Given the description of an element on the screen output the (x, y) to click on. 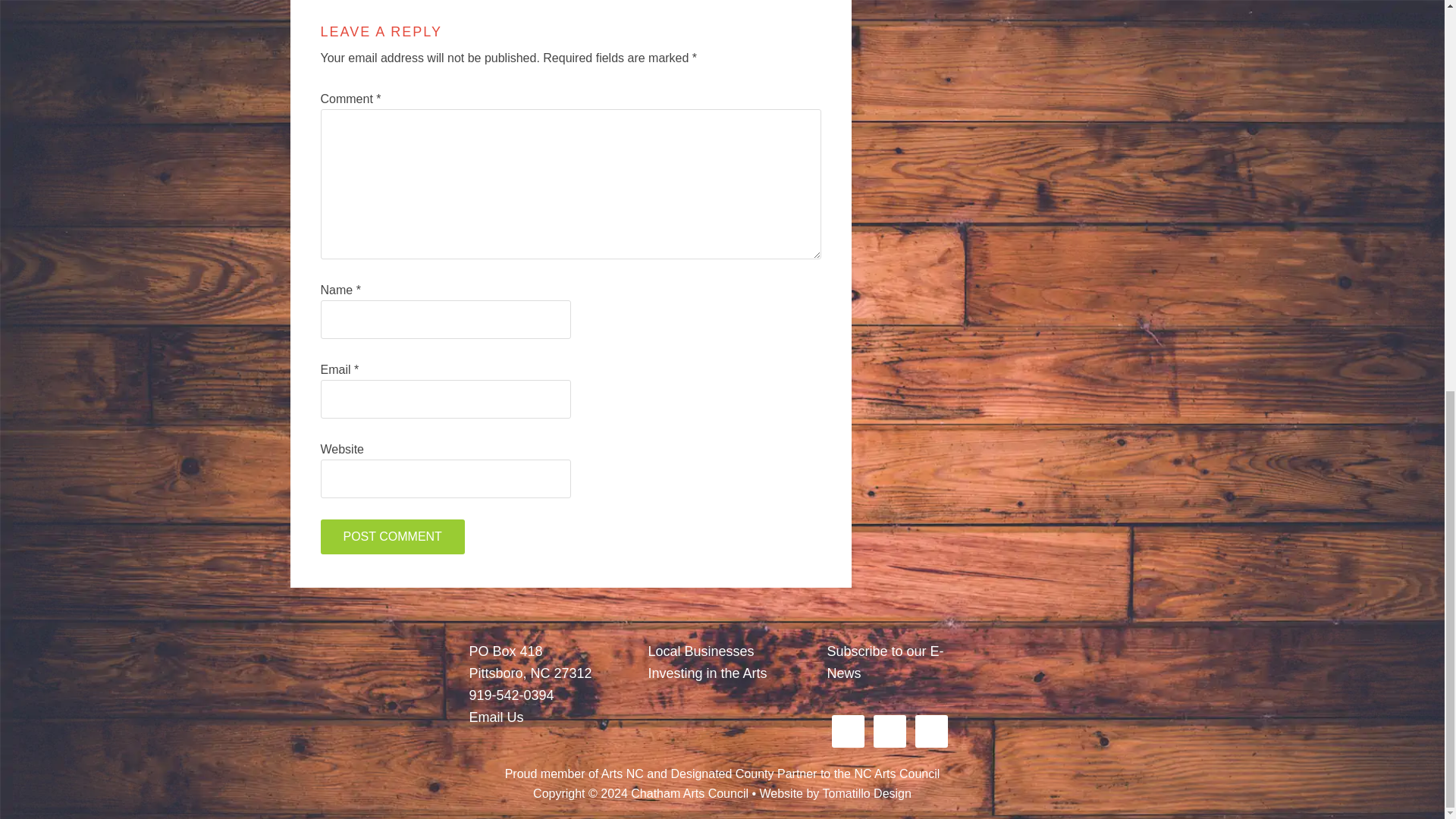
Email Us (495, 717)
Post Comment (392, 536)
Beautiful, Affordable Websites for Nonprofits (866, 793)
Post Comment (392, 536)
